Given the description of an element on the screen output the (x, y) to click on. 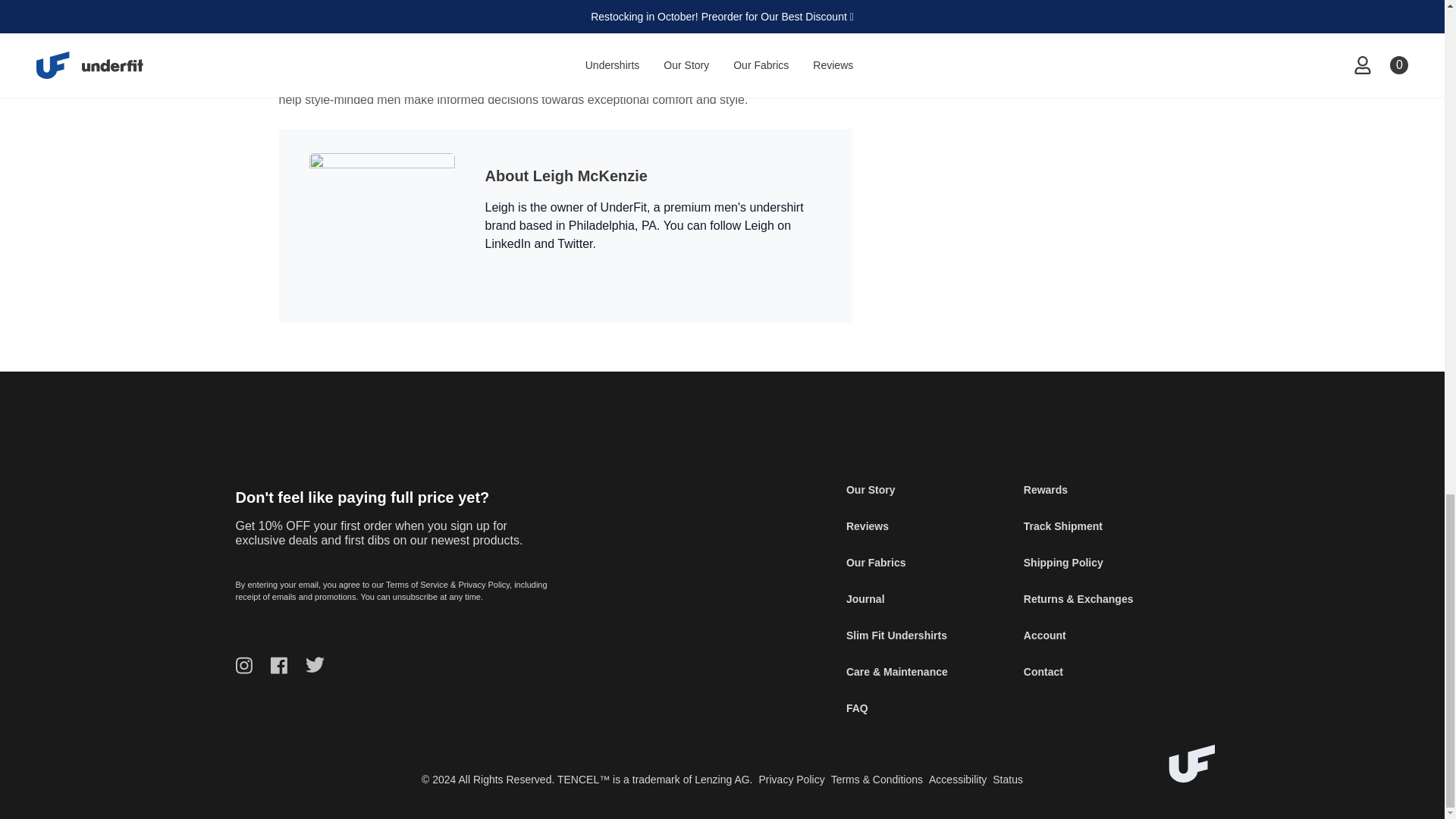
Twitter (574, 243)
About Leigh McKenzie (565, 175)
LinkedIn (507, 243)
